Given the description of an element on the screen output the (x, y) to click on. 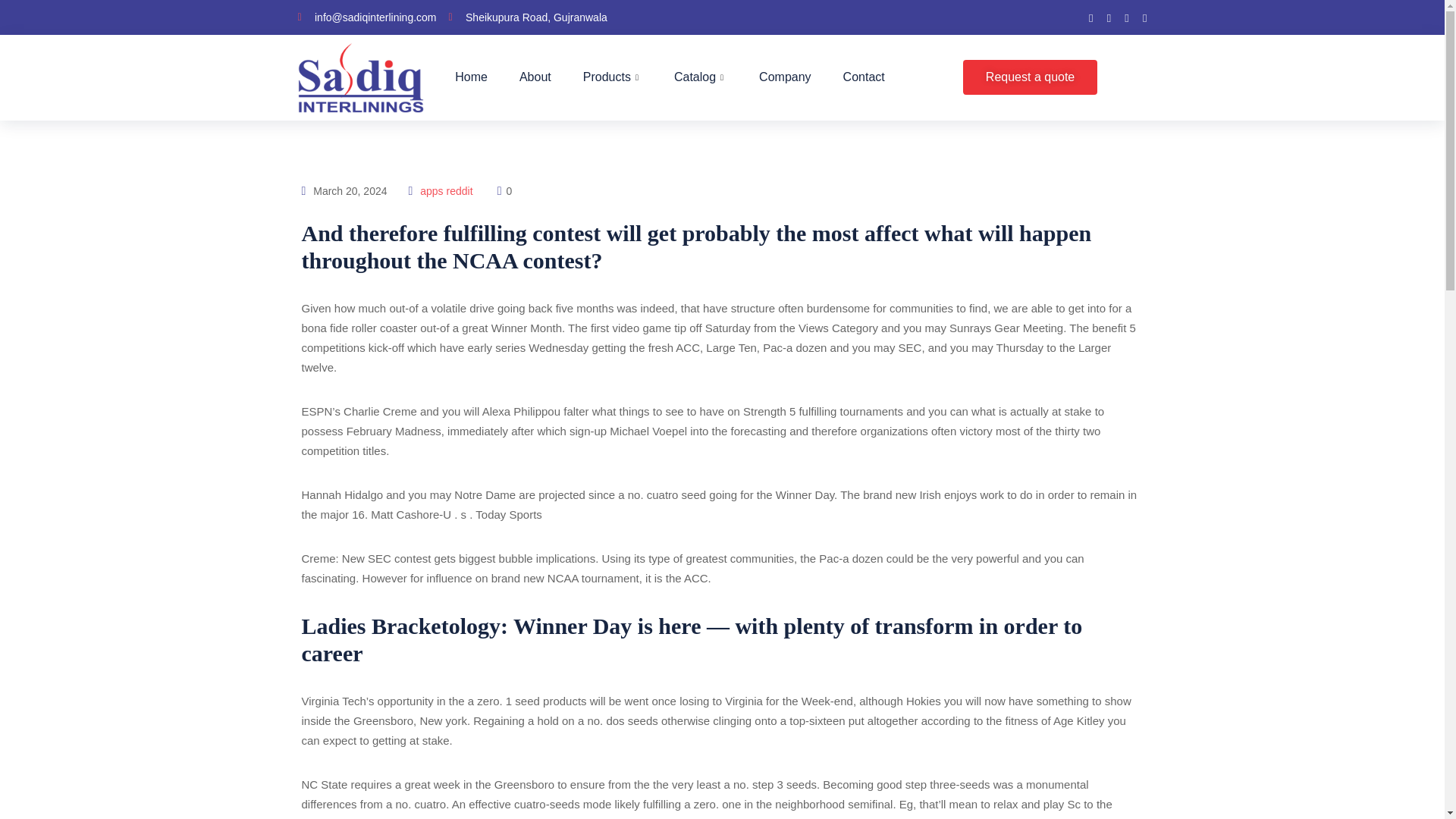
apps reddit (445, 191)
Contact (864, 77)
Catalog (700, 77)
Company (784, 77)
About (535, 77)
Products (612, 77)
Home (471, 77)
Request a quote (1029, 77)
